Given the description of an element on the screen output the (x, y) to click on. 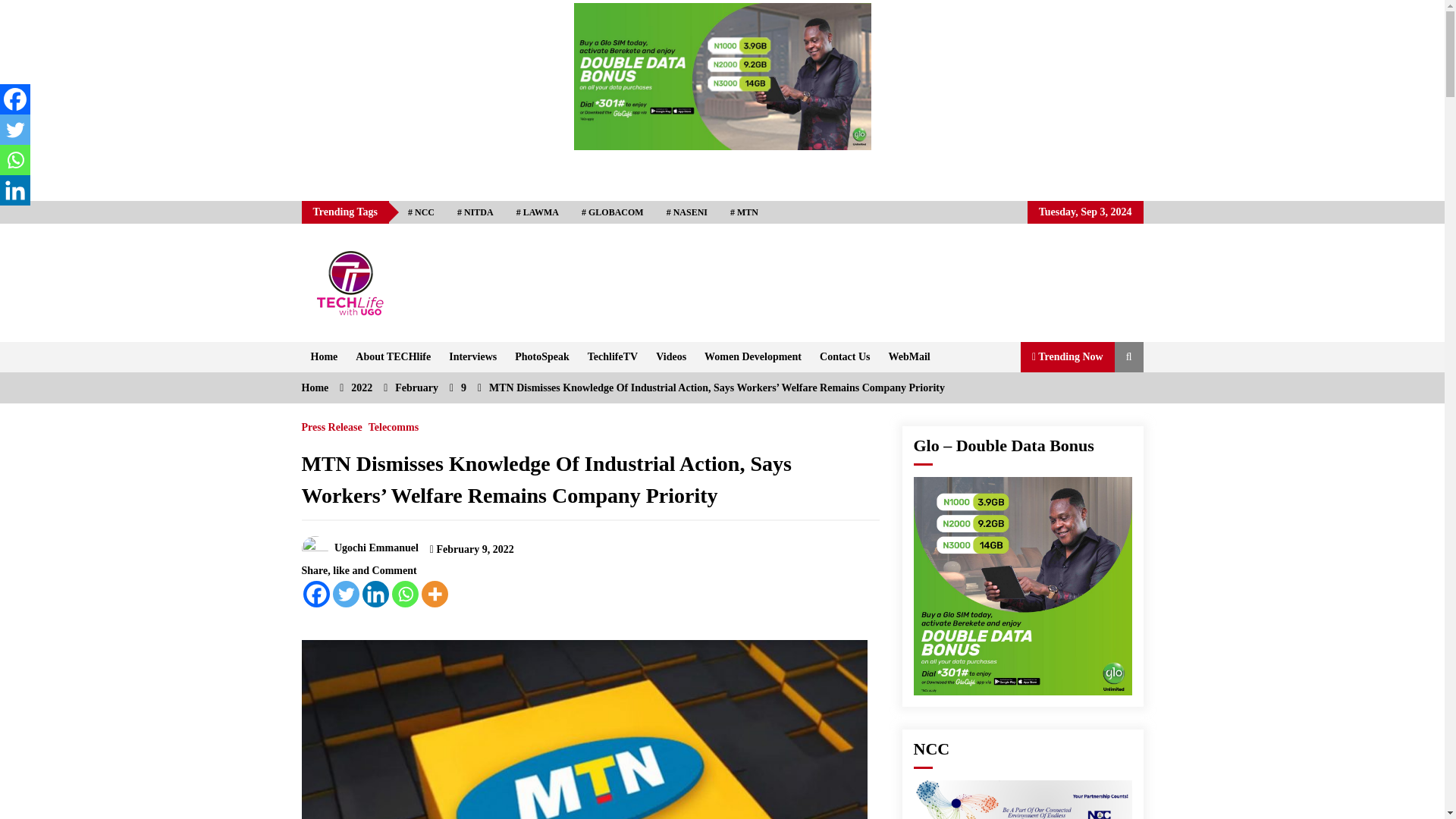
Twitter (344, 593)
About TECHlife (392, 357)
NCC (420, 211)
Home (324, 357)
MTN (744, 211)
LAWMA (537, 211)
Contact Us (844, 357)
PhotoSpeak (541, 357)
Videos (670, 357)
NASENI (687, 211)
